Given the description of an element on the screen output the (x, y) to click on. 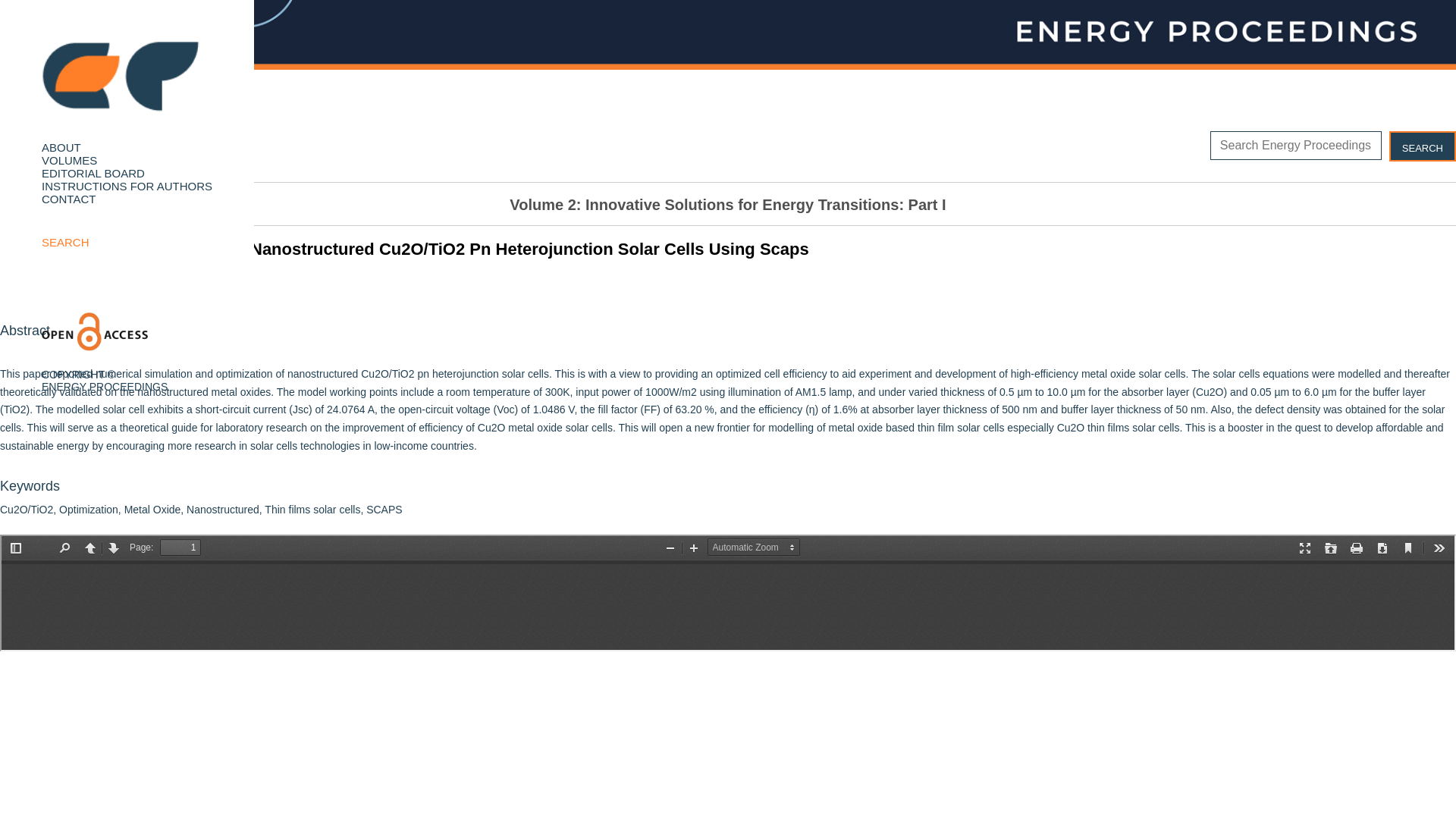
Contact (68, 198)
Volumes (68, 160)
CONTACT (68, 198)
VOLUMES (68, 160)
ABOUT (60, 147)
EDITORIAL BOARD (92, 172)
Instructions for Authors (126, 185)
EDITORIAL BOARD (92, 172)
Download full text in PDF (74, 152)
INSTRUCTIONS FOR AUTHORS (126, 185)
SEARCH (65, 242)
About (60, 147)
